Given the description of an element on the screen output the (x, y) to click on. 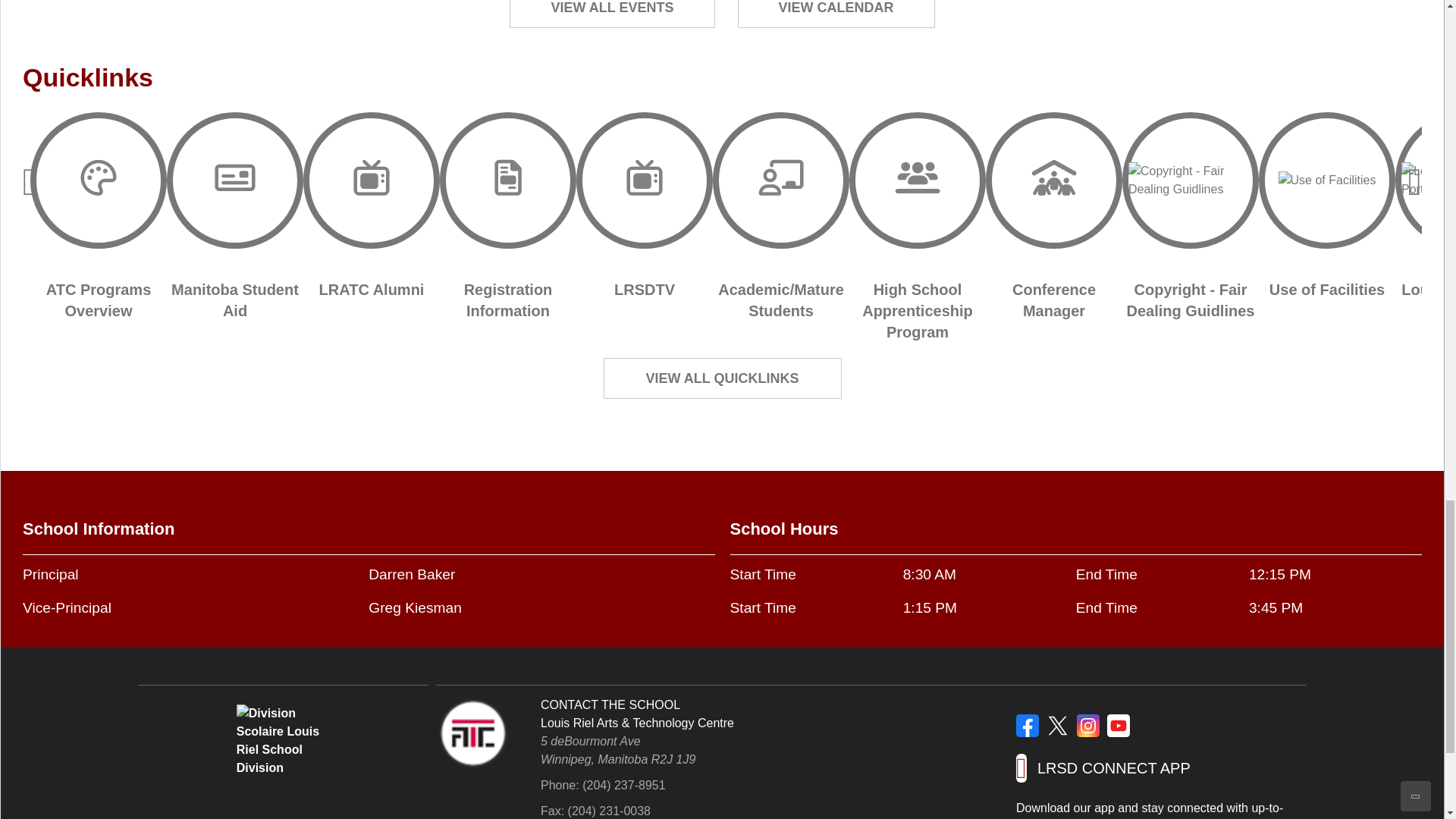
VIEW ALL EVENTS (611, 13)
VIEW CALENDAR (836, 13)
